Given the description of an element on the screen output the (x, y) to click on. 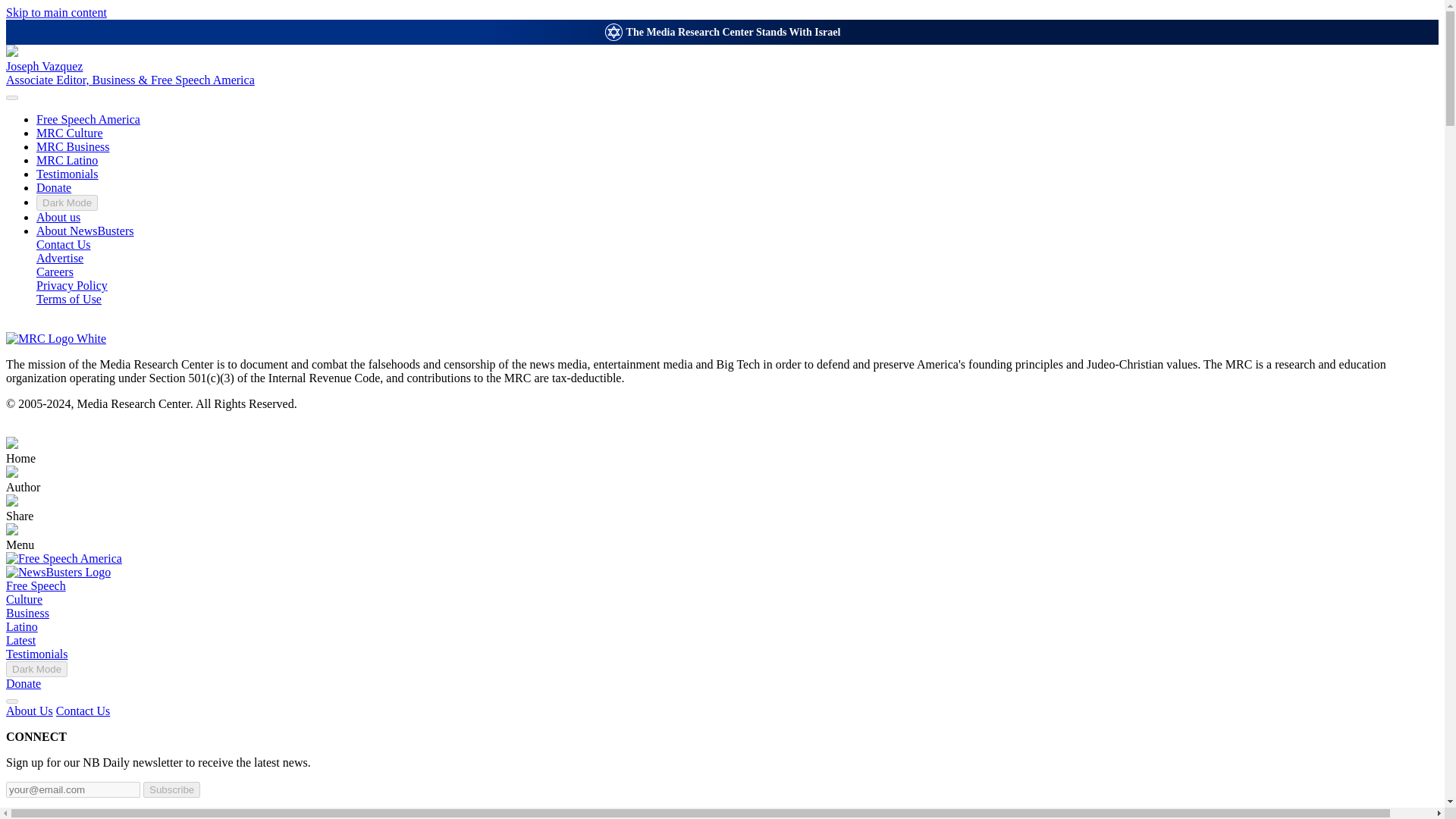
Testimonials (36, 653)
Dark Mode (66, 202)
Skip to main content (55, 11)
Donate (22, 683)
